Given the description of an element on the screen output the (x, y) to click on. 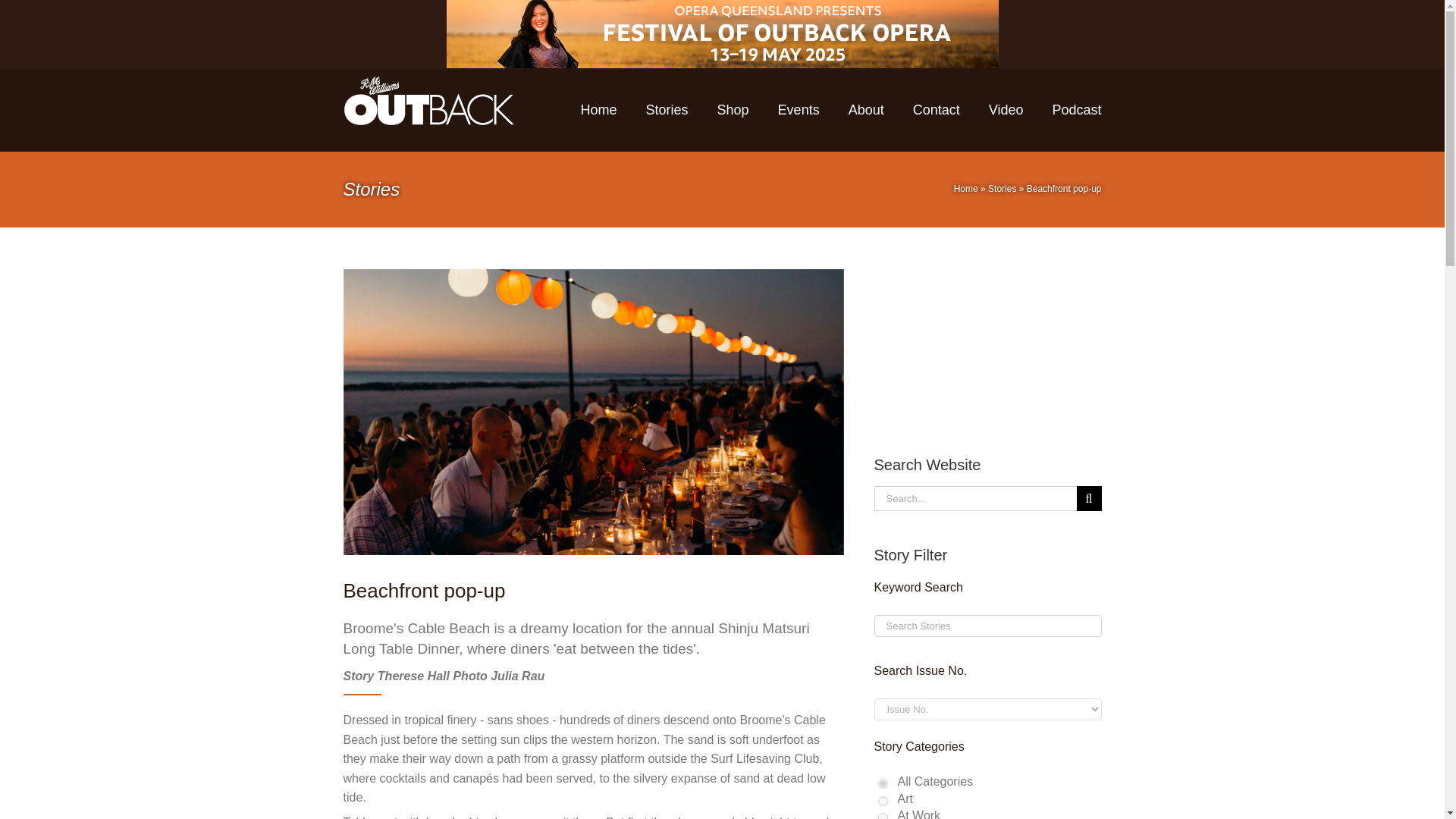
Stories (1002, 188)
Home (965, 188)
at-work (882, 816)
art (882, 800)
